Given the description of an element on the screen output the (x, y) to click on. 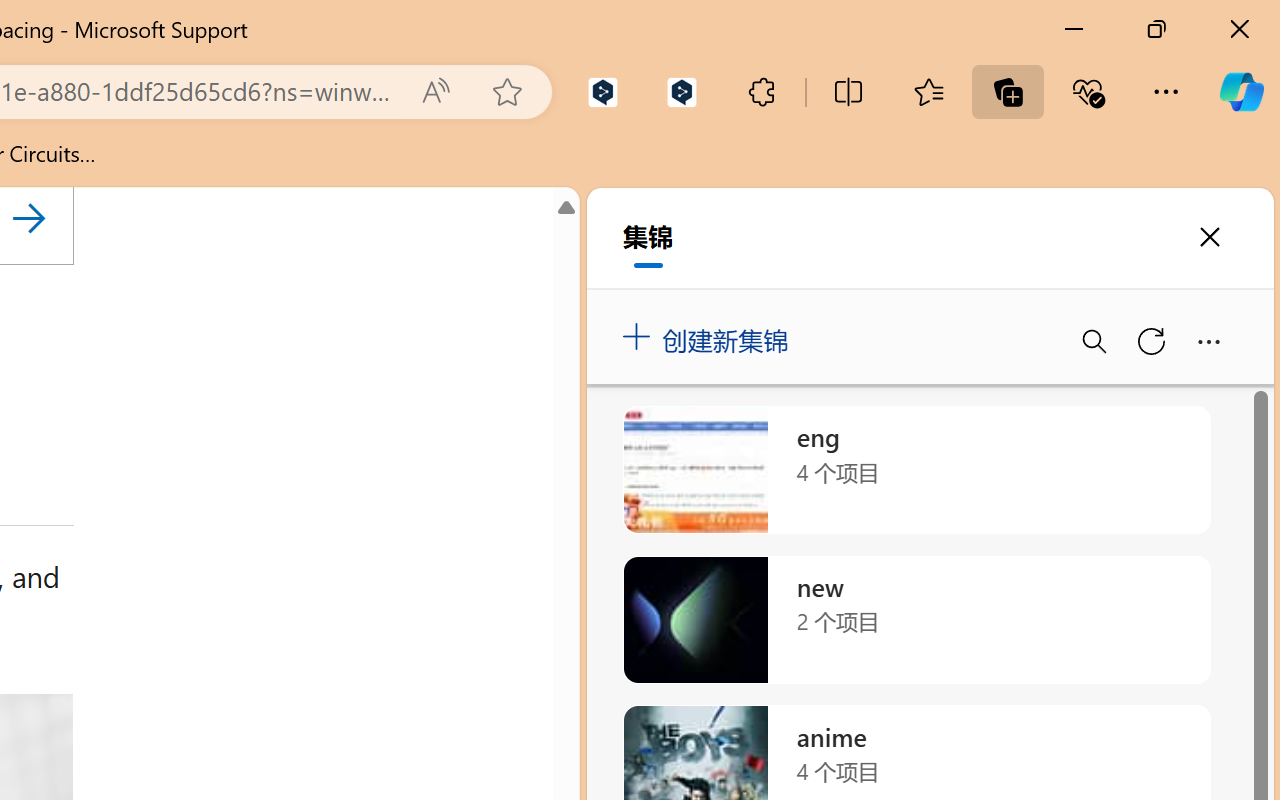
Copilot (Ctrl+Shift+.) (1241, 91)
